Given the description of an element on the screen output the (x, y) to click on. 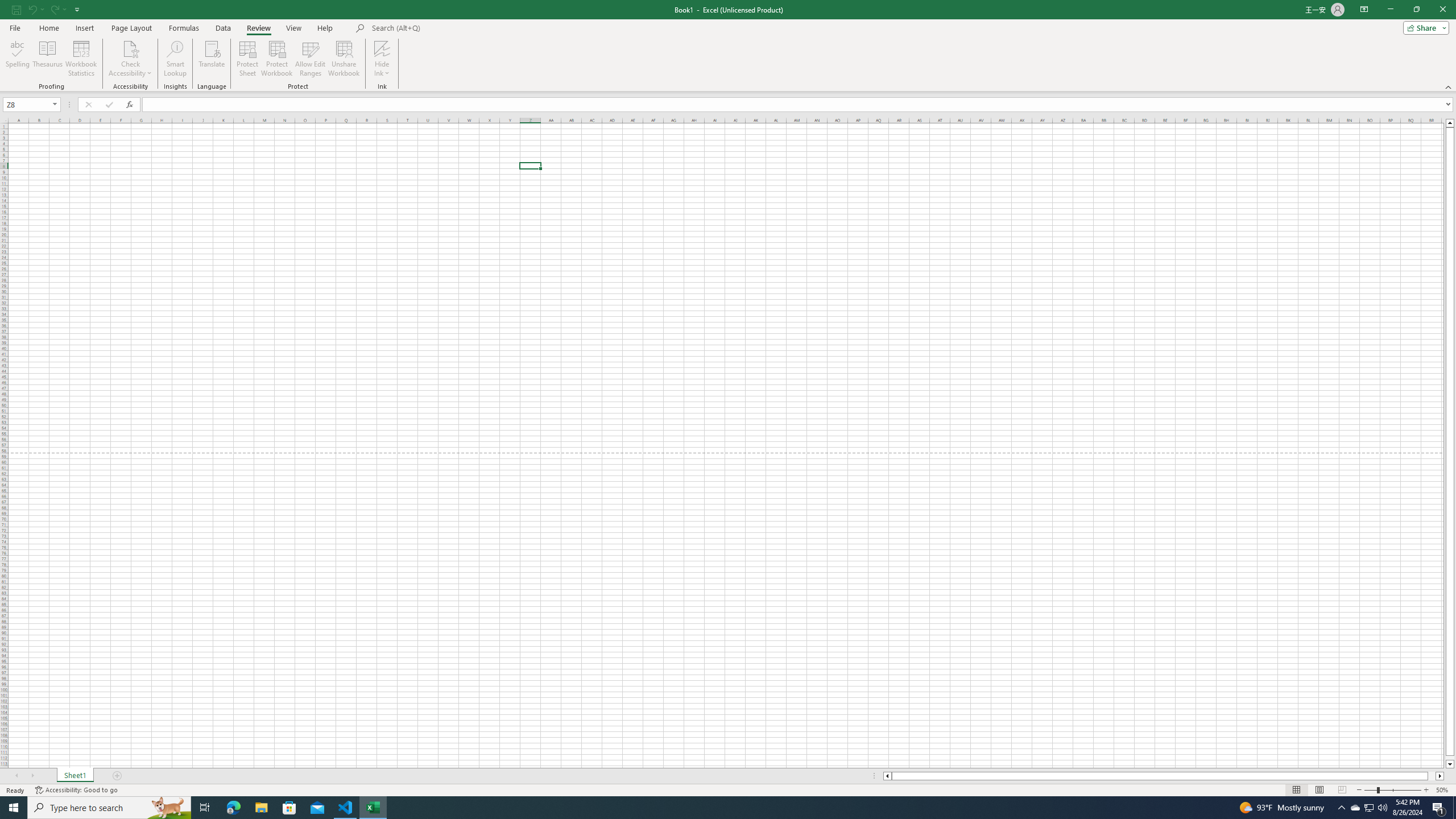
Translate (211, 58)
